Given the description of an element on the screen output the (x, y) to click on. 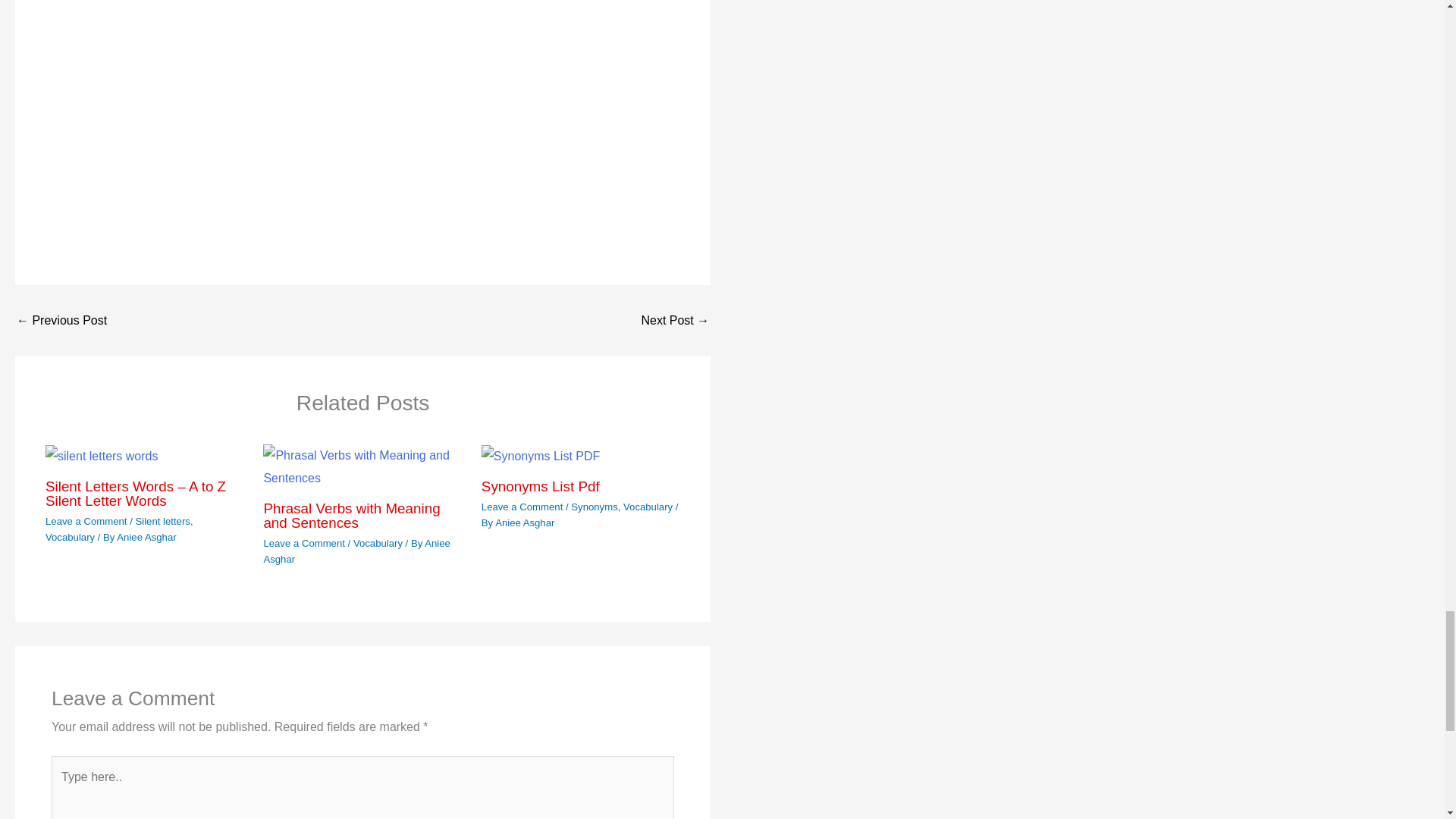
Is It a Baton or a Batton? (674, 319)
View all posts by Aniee Asghar (524, 522)
Ad vs Add: Understand the Difference (61, 319)
View all posts by Aniee Asghar (356, 551)
View all posts by Aniee Asghar (146, 536)
